Given the description of an element on the screen output the (x, y) to click on. 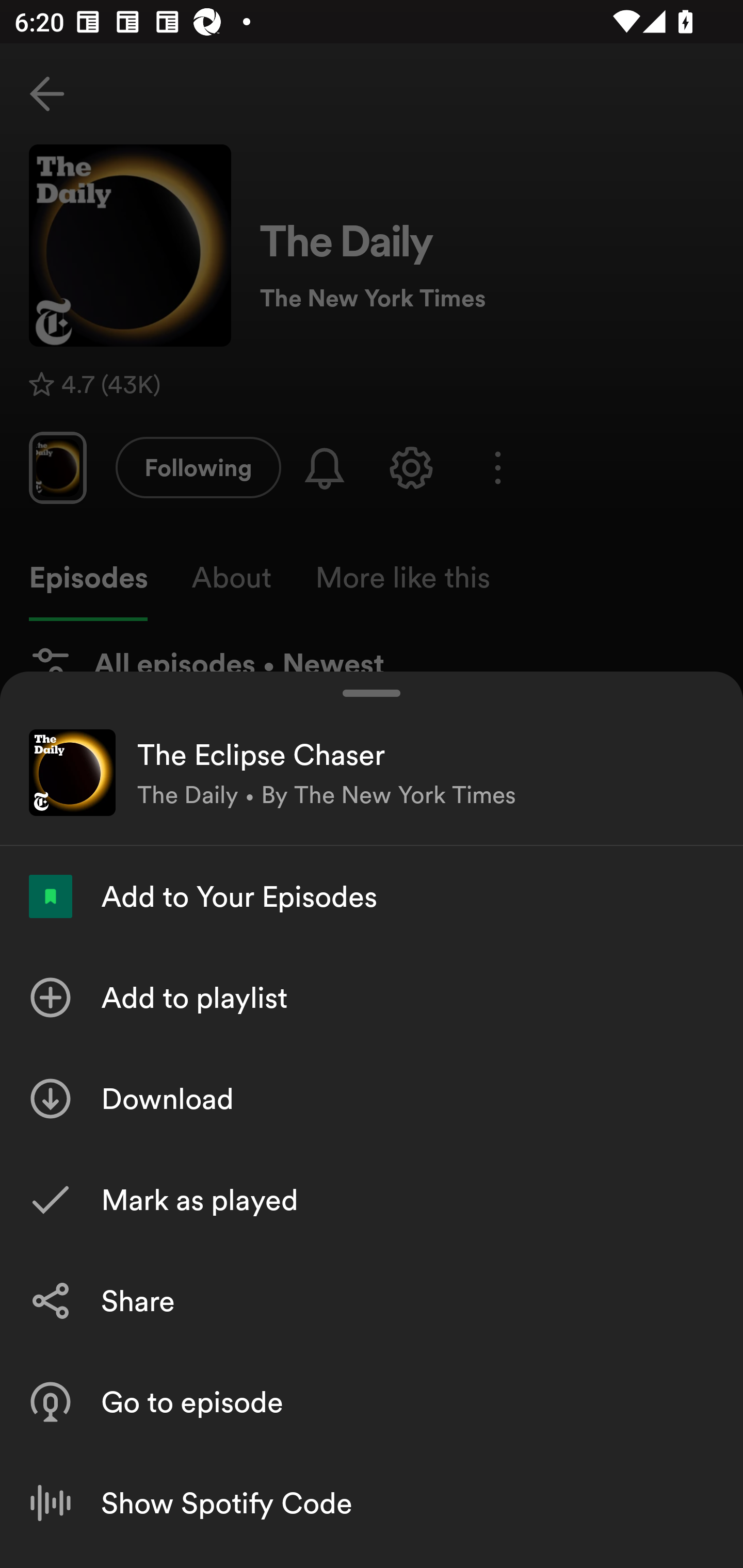
Add to Your Episodes (371, 896)
Add to playlist (371, 997)
Download (371, 1098)
Mark as played (371, 1199)
Share (371, 1300)
Go to episode (371, 1401)
Show Spotify Code (371, 1502)
